Given the description of an element on the screen output the (x, y) to click on. 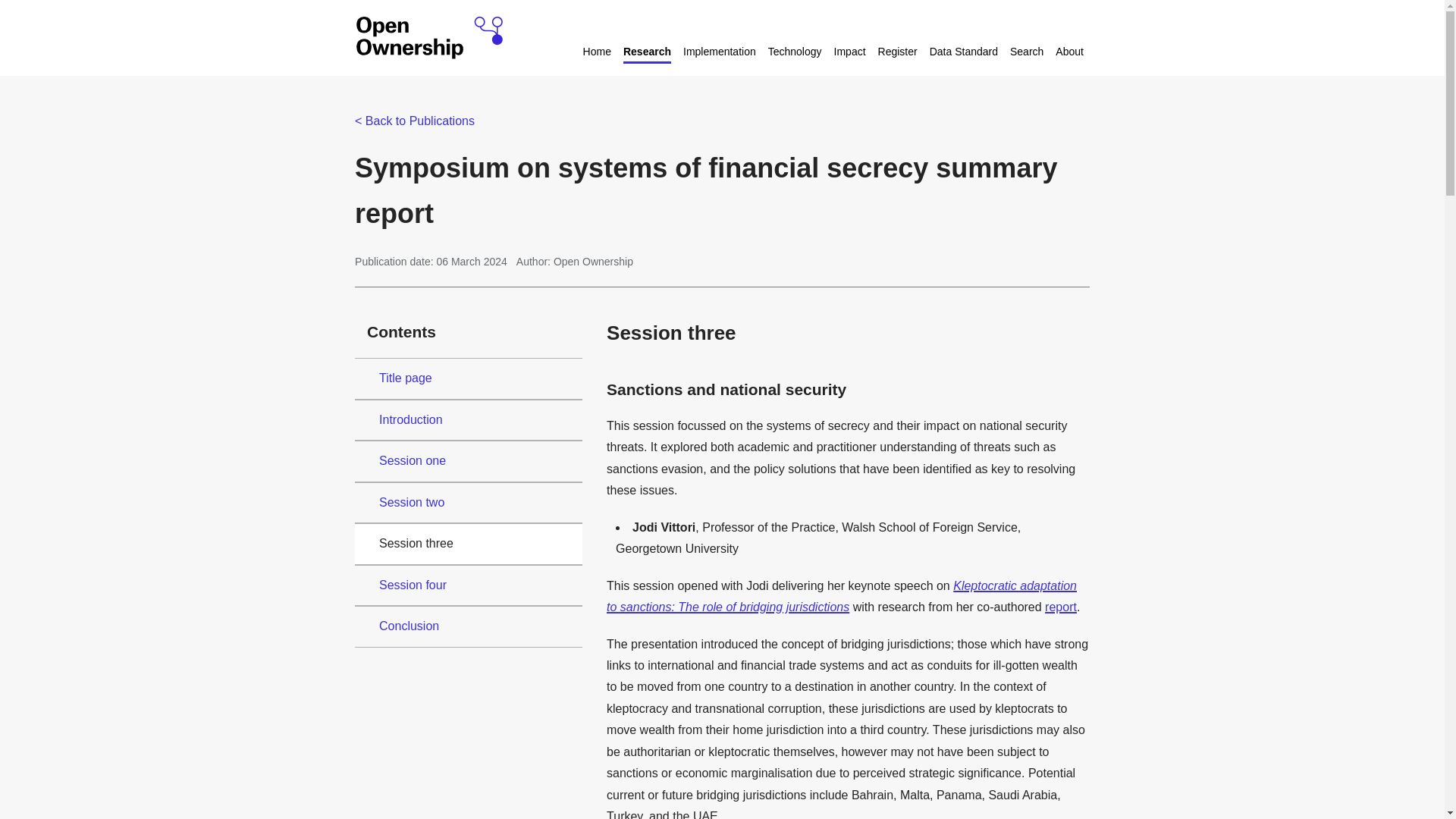
Home (597, 52)
Research (647, 52)
Implementation (718, 52)
